Given the description of an element on the screen output the (x, y) to click on. 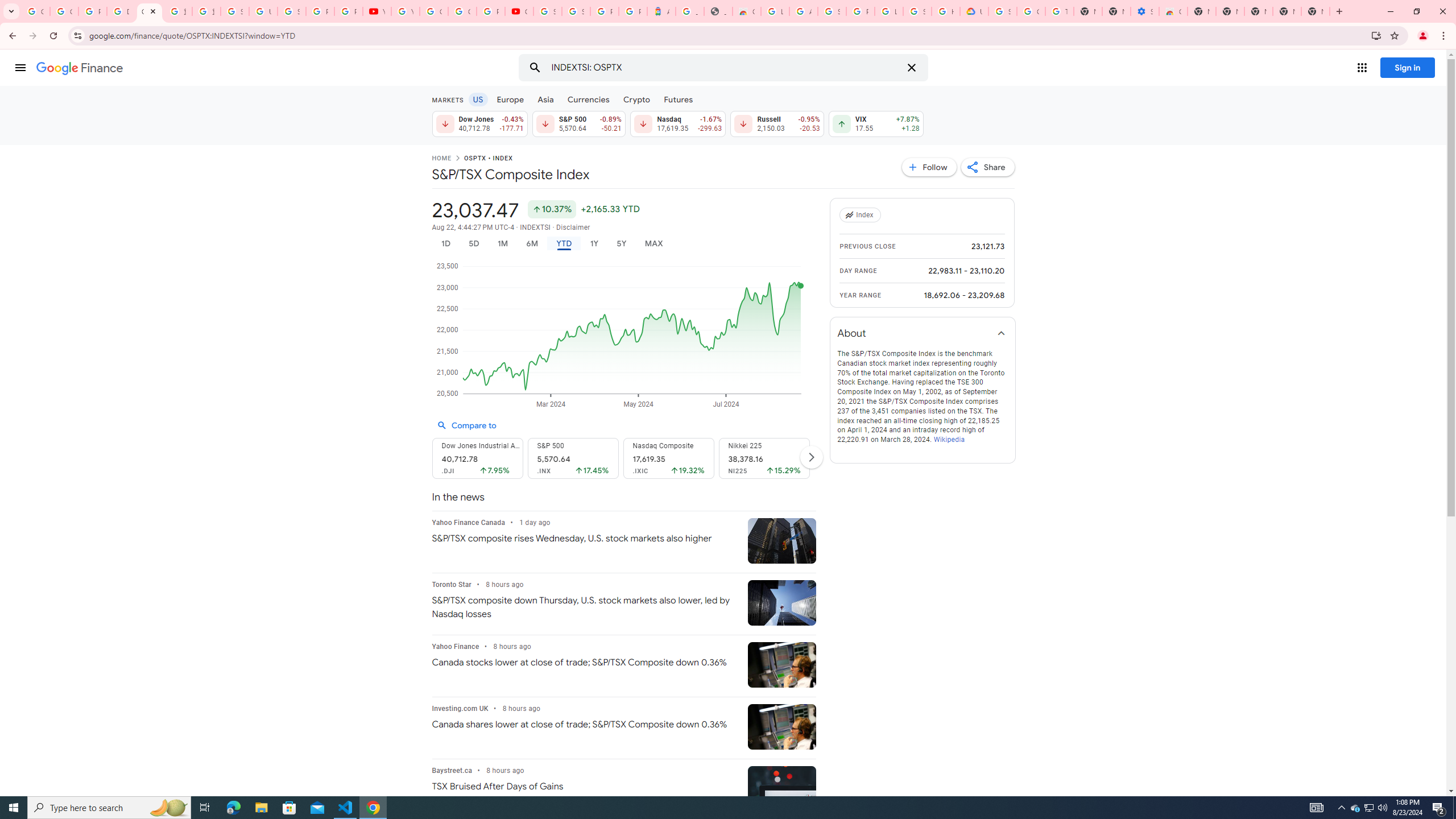
1Y (594, 243)
Content Creator Programs & Opportunities - YouTube Creators (518, 11)
US (477, 99)
Follow (929, 167)
6M (531, 243)
Turn cookies on or off - Computer - Google Account Help (1058, 11)
VIX 17.55 Up by 7.87% +1.28 (875, 123)
New Tab (1315, 11)
